Given the description of an element on the screen output the (x, y) to click on. 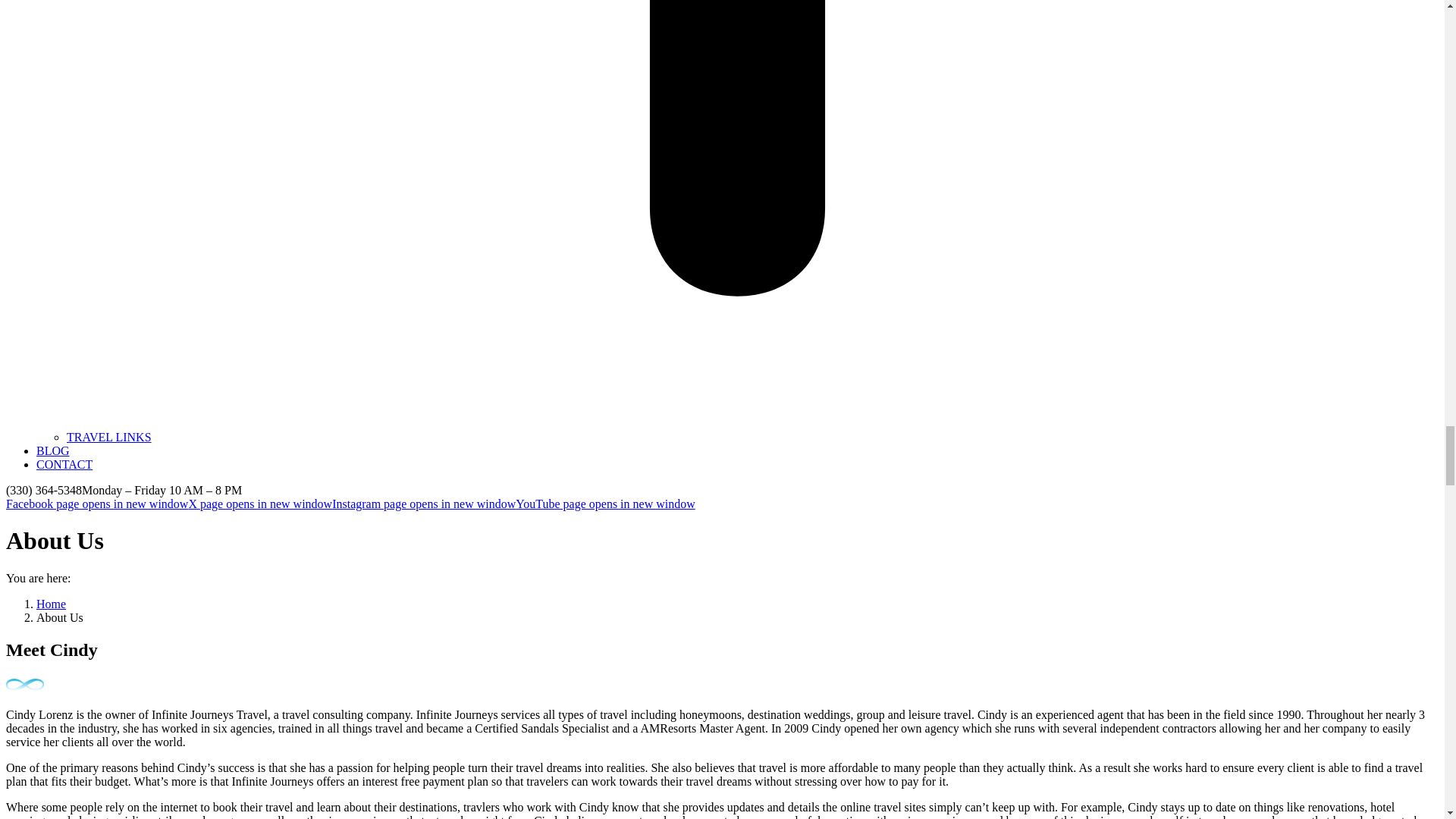
YouTube page opens in new window (604, 503)
X page opens in new window (259, 503)
Home (50, 603)
Instagram page opens in new window (423, 503)
Facebook page opens in new window (96, 503)
